Given the description of an element on the screen output the (x, y) to click on. 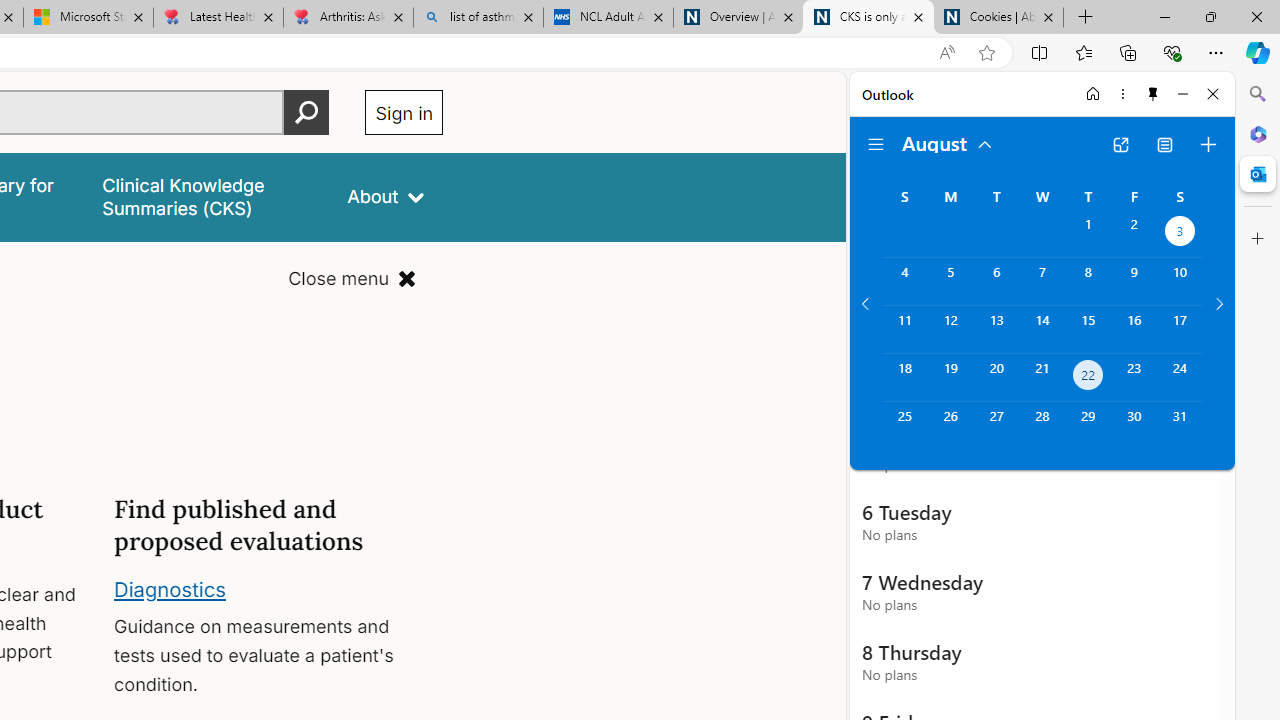
Monday, August 19, 2024.  (950, 377)
Cookies | About | NICE (998, 17)
Thursday, August 15, 2024.  (1088, 329)
Open in new tab (1120, 144)
NCL Adult Asthma Inhaler Choice Guideline (608, 17)
Sign in (404, 112)
Wednesday, August 28, 2024.  (1042, 425)
View Switcher. Current view is Agenda view (1165, 144)
CKS is only available in the UK | NICE (868, 17)
